Given the description of an element on the screen output the (x, y) to click on. 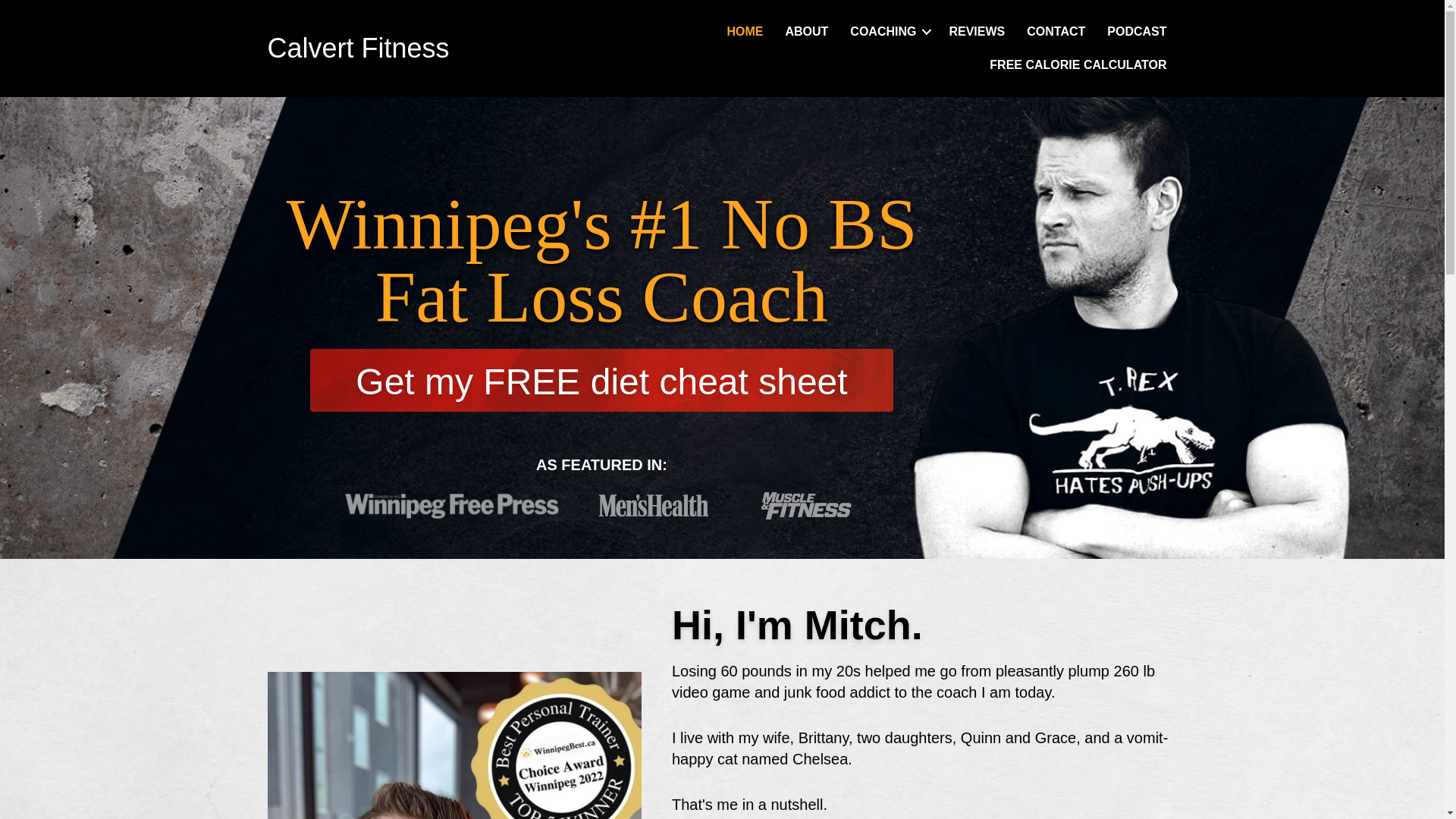
Calvert Fitness (357, 47)
featured-in-home (601, 507)
ABOUT (806, 31)
PODCAST (1136, 31)
REVIEWS (975, 31)
Get my FREE diet cheat sheet (601, 379)
Calvert Fitness (357, 47)
CONTACT (1056, 31)
FREE CALORIE CALCULATOR (1077, 64)
HOME (744, 31)
winnipeg best pt (453, 745)
COACHING (888, 31)
